Given the description of an element on the screen output the (x, y) to click on. 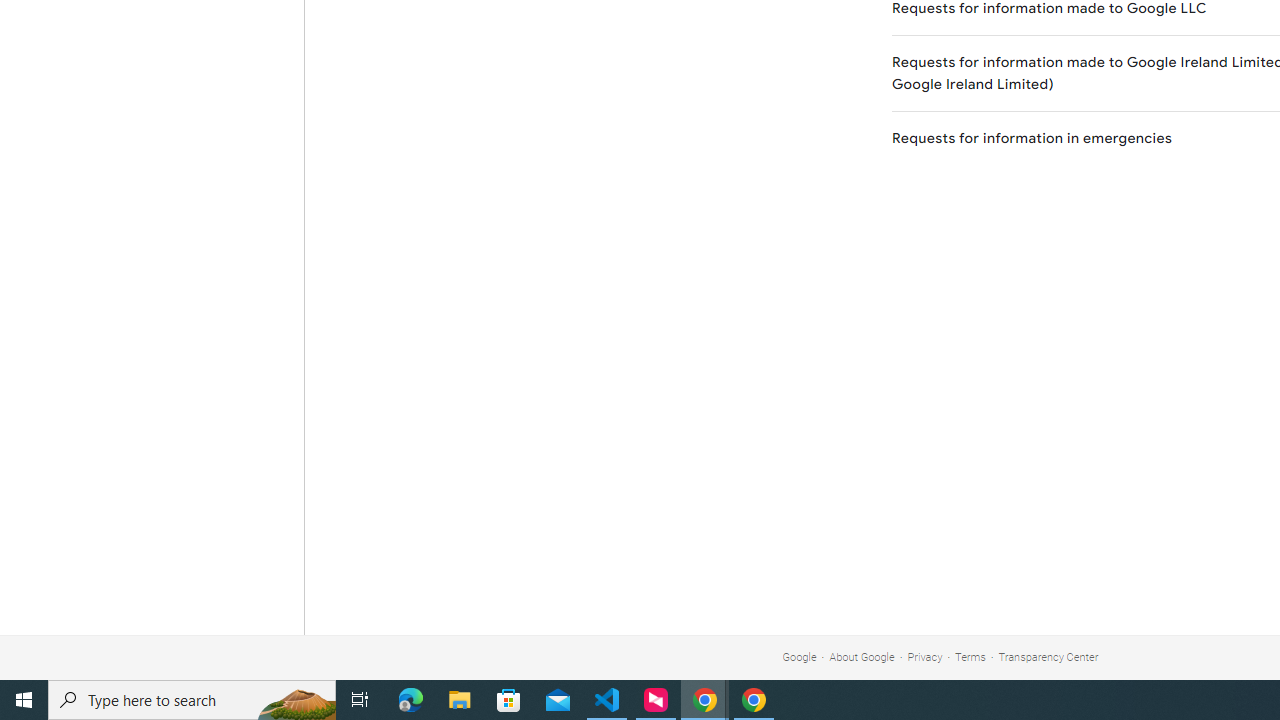
About Google (861, 656)
Transparency Center (1048, 656)
